Given the description of an element on the screen output the (x, y) to click on. 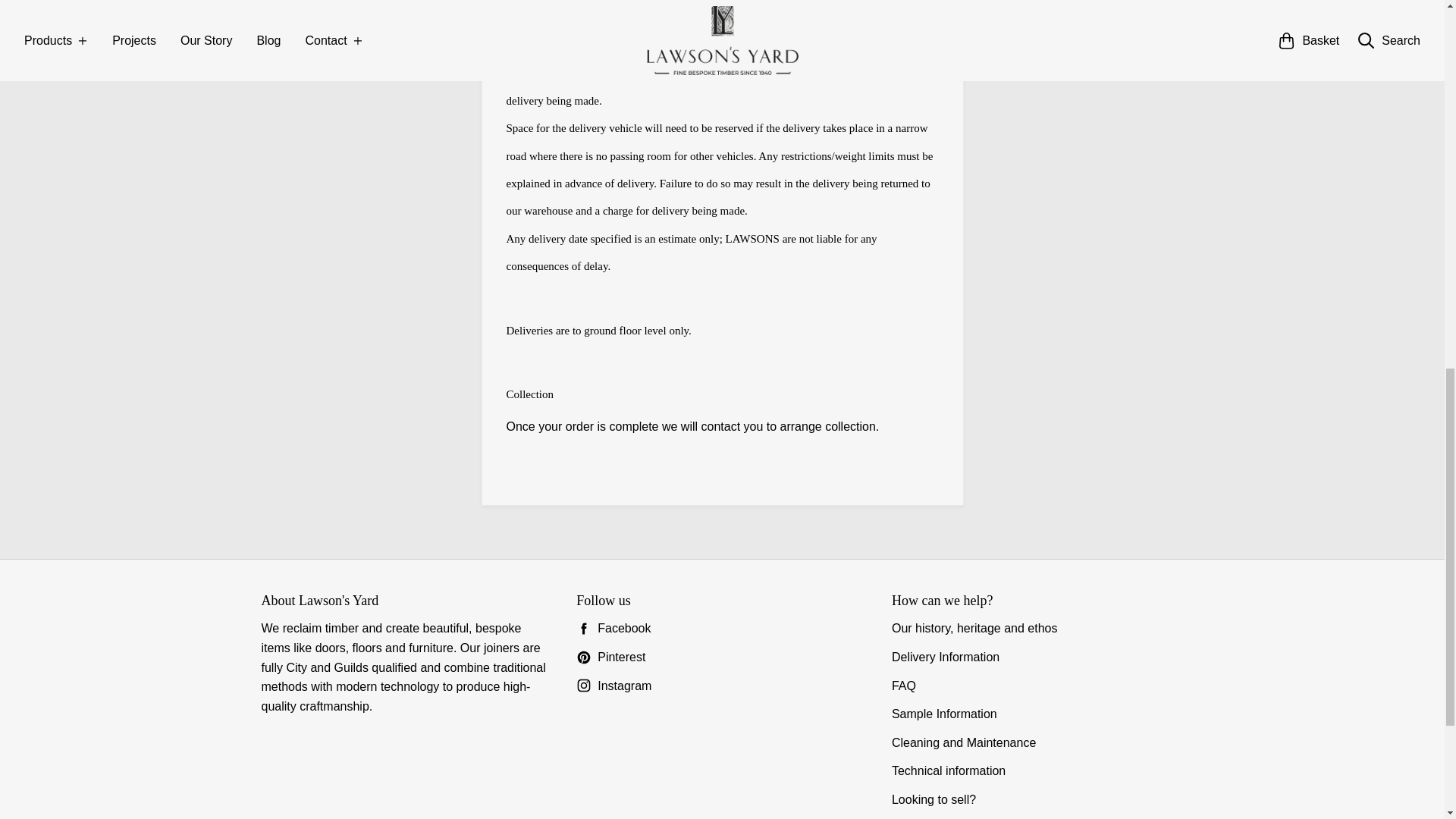
Pinterest (721, 657)
Facebook (721, 628)
Instagram (721, 686)
